Given the description of an element on the screen output the (x, y) to click on. 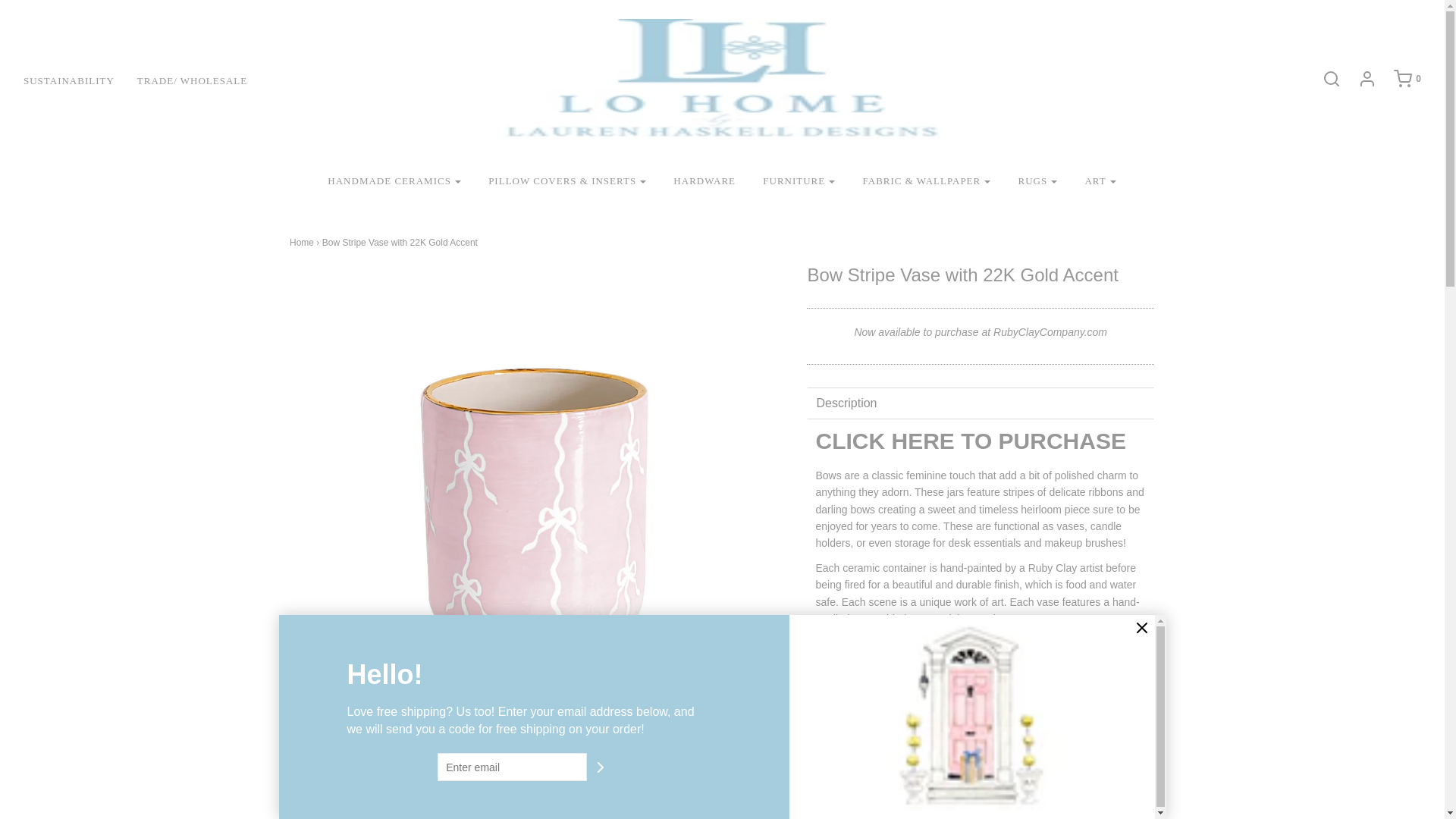
Cart (1399, 78)
0 (1399, 78)
Bow Stripe Vase with 22K Gold Accent (731, 797)
Bow Stripe Vase with 22K Gold Accent (342, 797)
Bow Stripe Vase with 22K Gold Accent (601, 797)
Back home (301, 242)
HANDMADE CERAMICS (393, 181)
SUSTAINABILITY (79, 80)
Search (1323, 78)
Bow Stripe Vase with 22K Gold Accent (472, 797)
